Given the description of an element on the screen output the (x, y) to click on. 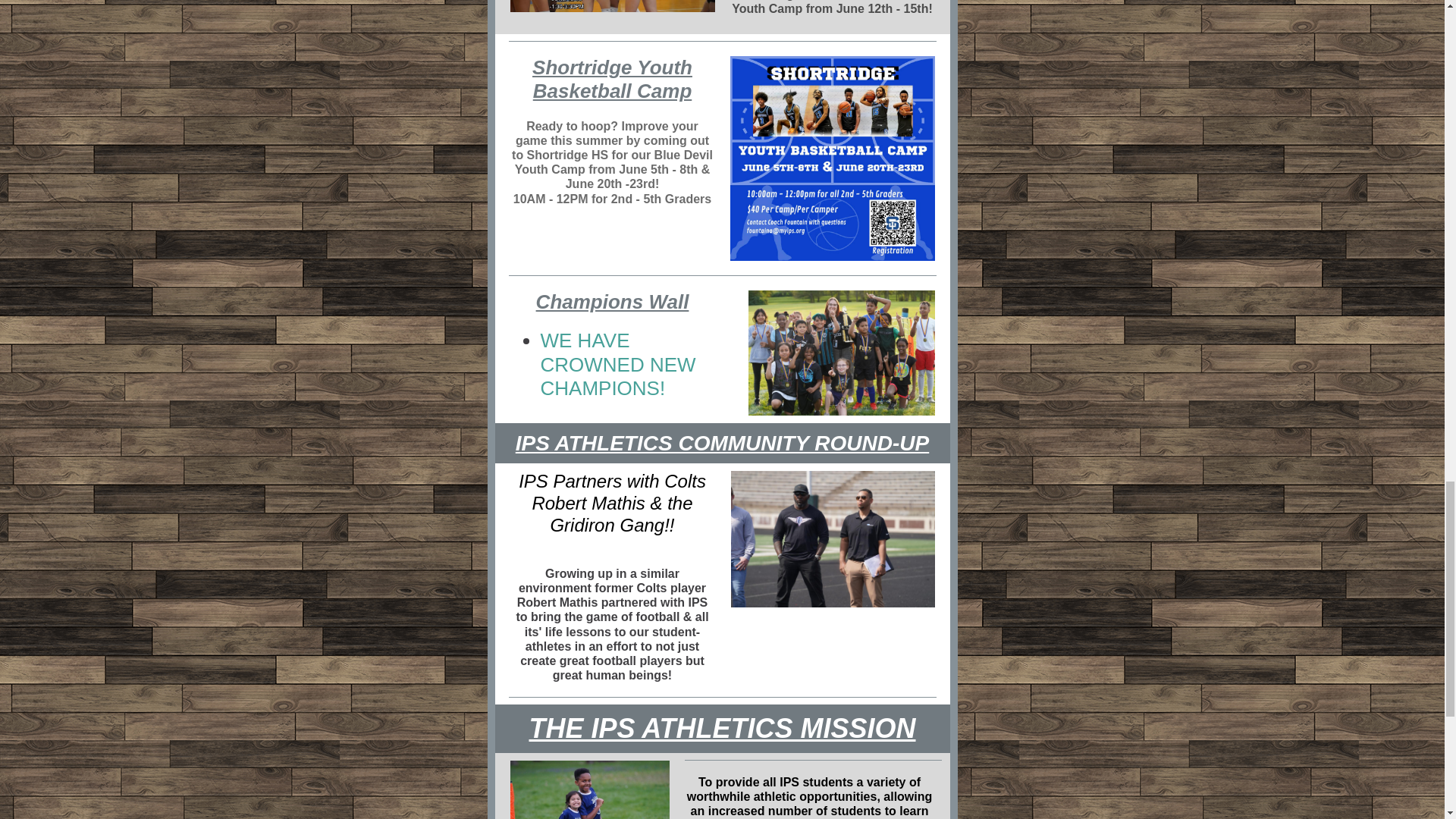
WE HAVE CROWNED NEW CHAMPIONS! (617, 363)
